Given the description of an element on the screen output the (x, y) to click on. 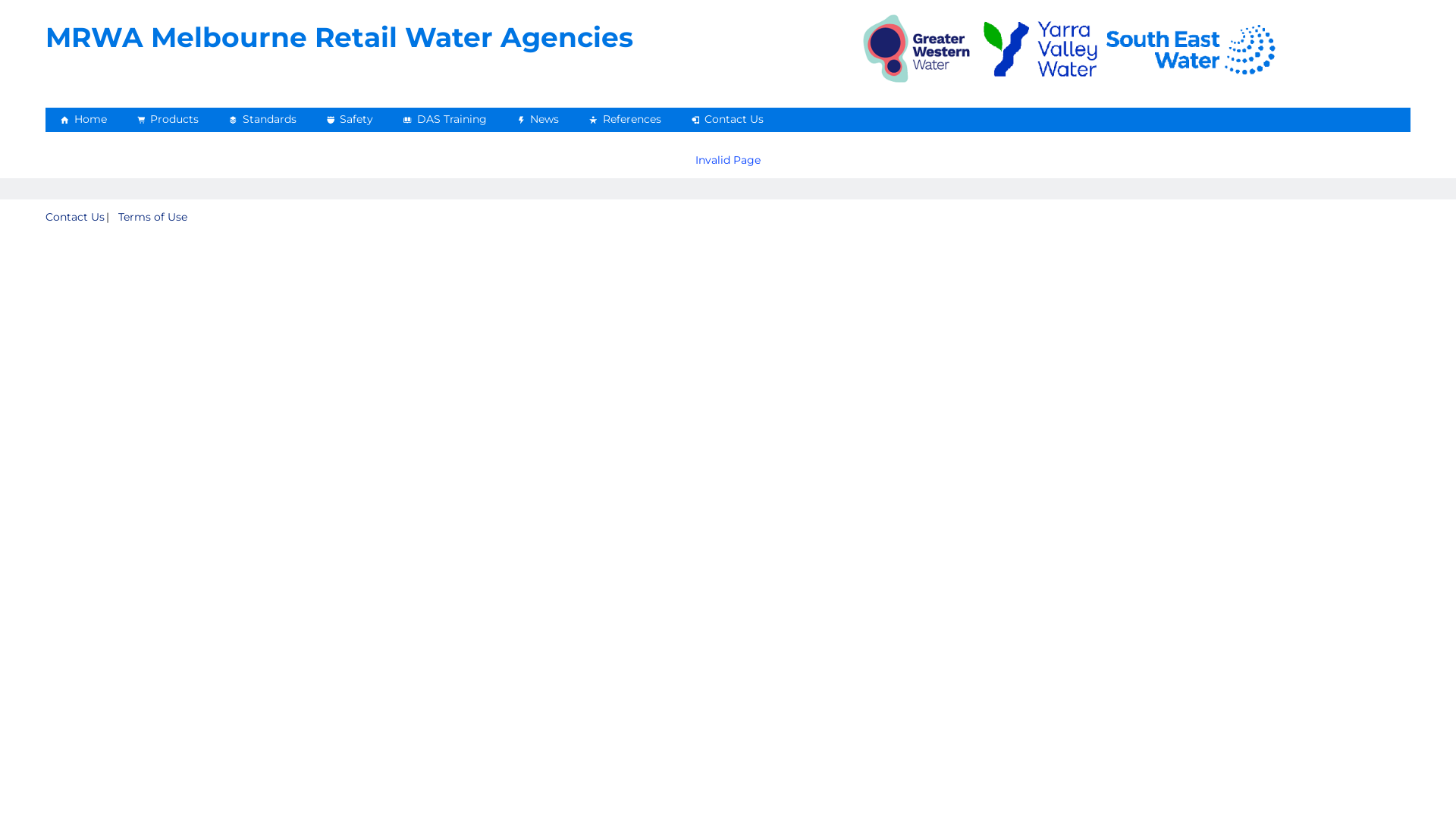
References Element type: text (625, 119)
DAS Training Element type: text (444, 119)
Terms of Use Element type: text (152, 216)
Logo links to Home Page Element type: text (1071, 48)
Contact Us Element type: text (727, 119)
News Element type: text (538, 119)
Home Element type: text (83, 119)
Products Element type: text (167, 119)
Safety Element type: text (349, 119)
Contact Us Element type: text (74, 216)
Standards Element type: text (262, 119)
